Given the description of an element on the screen output the (x, y) to click on. 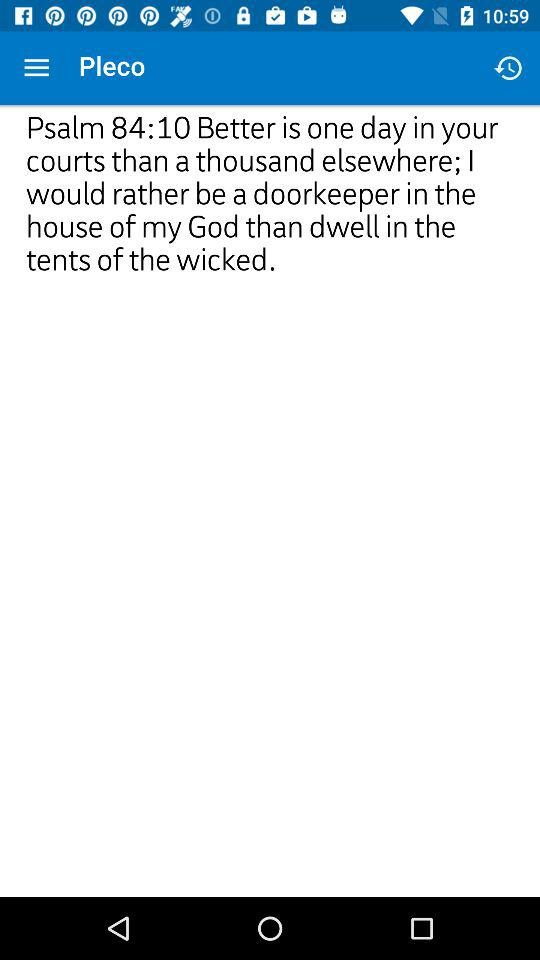
select item to the left of the pleco (36, 68)
